Given the description of an element on the screen output the (x, y) to click on. 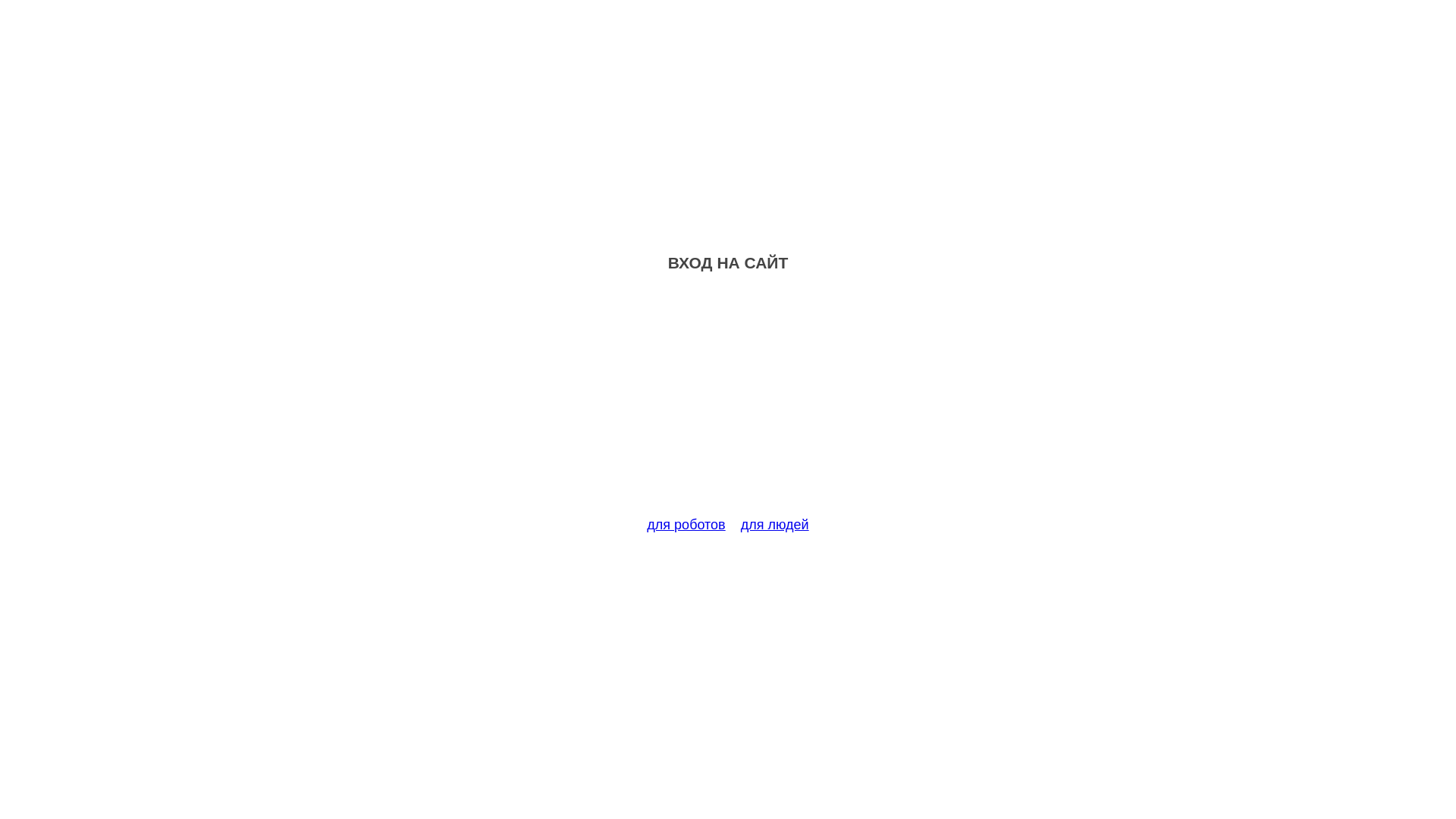
Advertisement Element type: hover (727, 403)
